Given the description of an element on the screen output the (x, y) to click on. 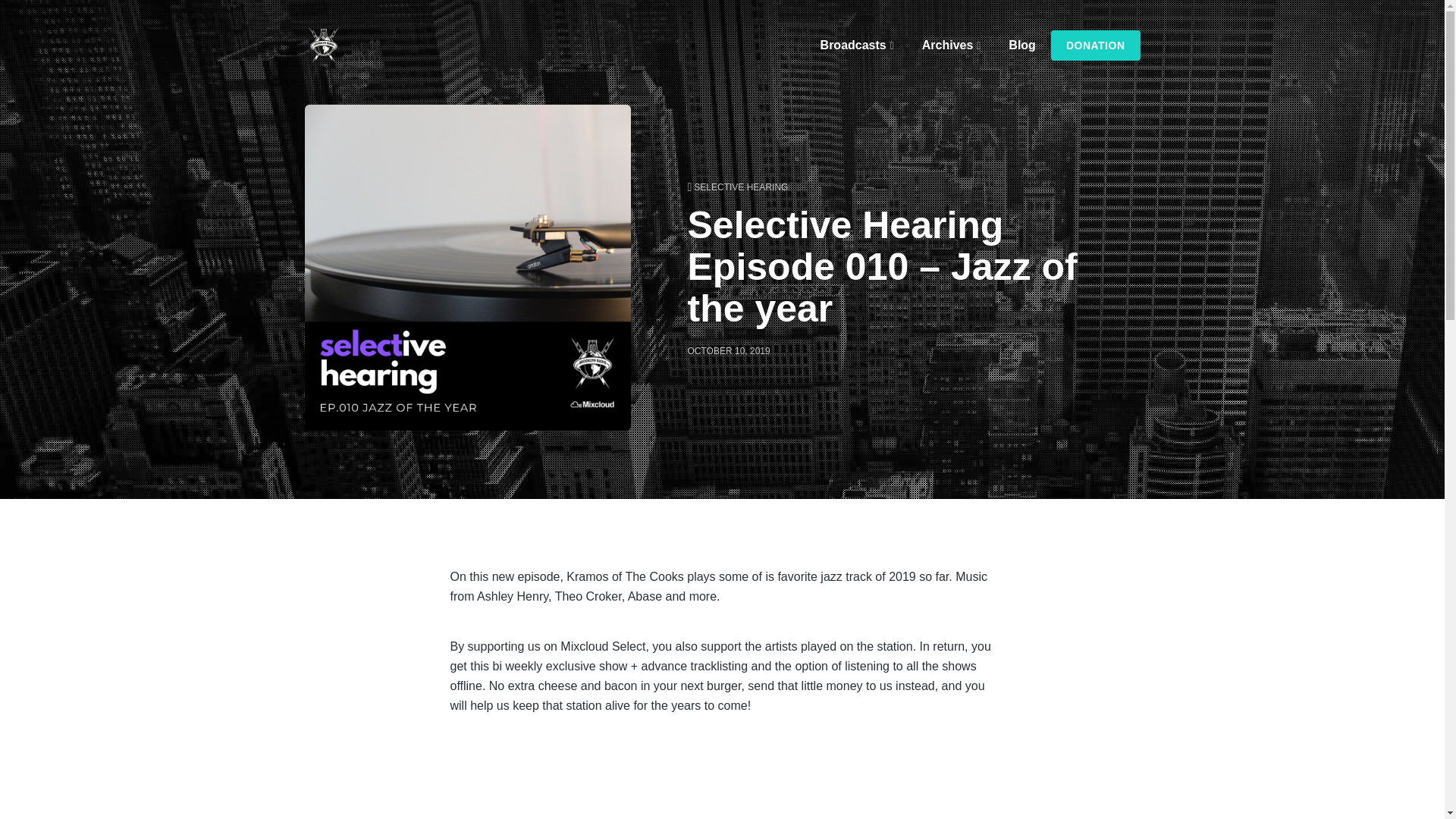
DONATION (1095, 45)
Archives (954, 45)
Blog (1022, 45)
Broadcasts (860, 45)
